Given the description of an element on the screen output the (x, y) to click on. 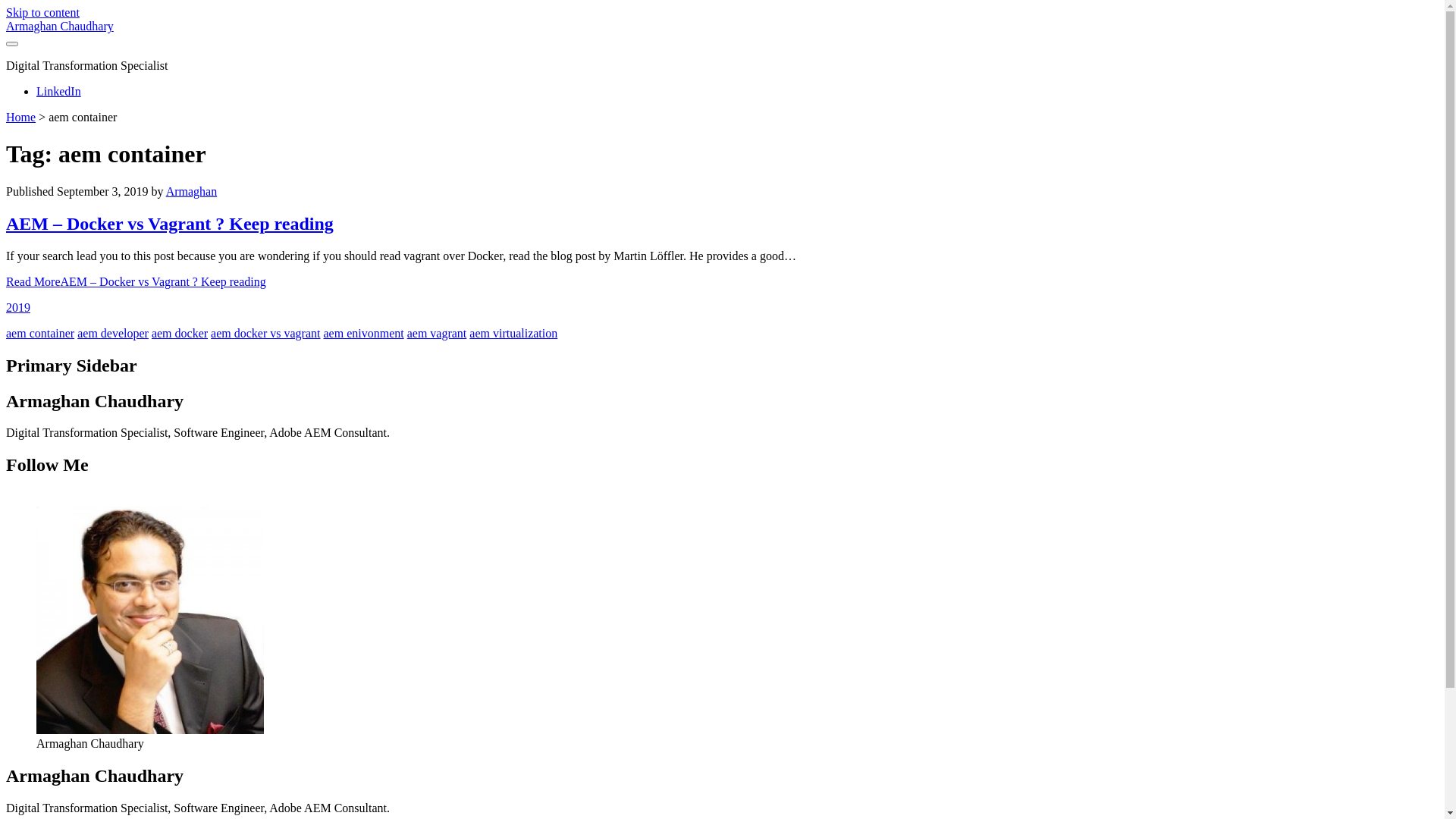
Armaghan Chaudhary Element type: text (59, 25)
aem container Element type: text (40, 332)
aem docker Element type: text (179, 332)
aem vagrant Element type: text (437, 332)
aem virtualization Element type: text (513, 332)
aem docker vs vagrant Element type: text (265, 332)
Home Element type: text (20, 116)
2019 Element type: text (18, 307)
LinkedIn Element type: text (58, 90)
Skip to content Element type: text (42, 12)
aem enivonment Element type: text (363, 332)
Armaghan Element type: text (191, 191)
aem developer Element type: text (112, 332)
